Given the description of an element on the screen output the (x, y) to click on. 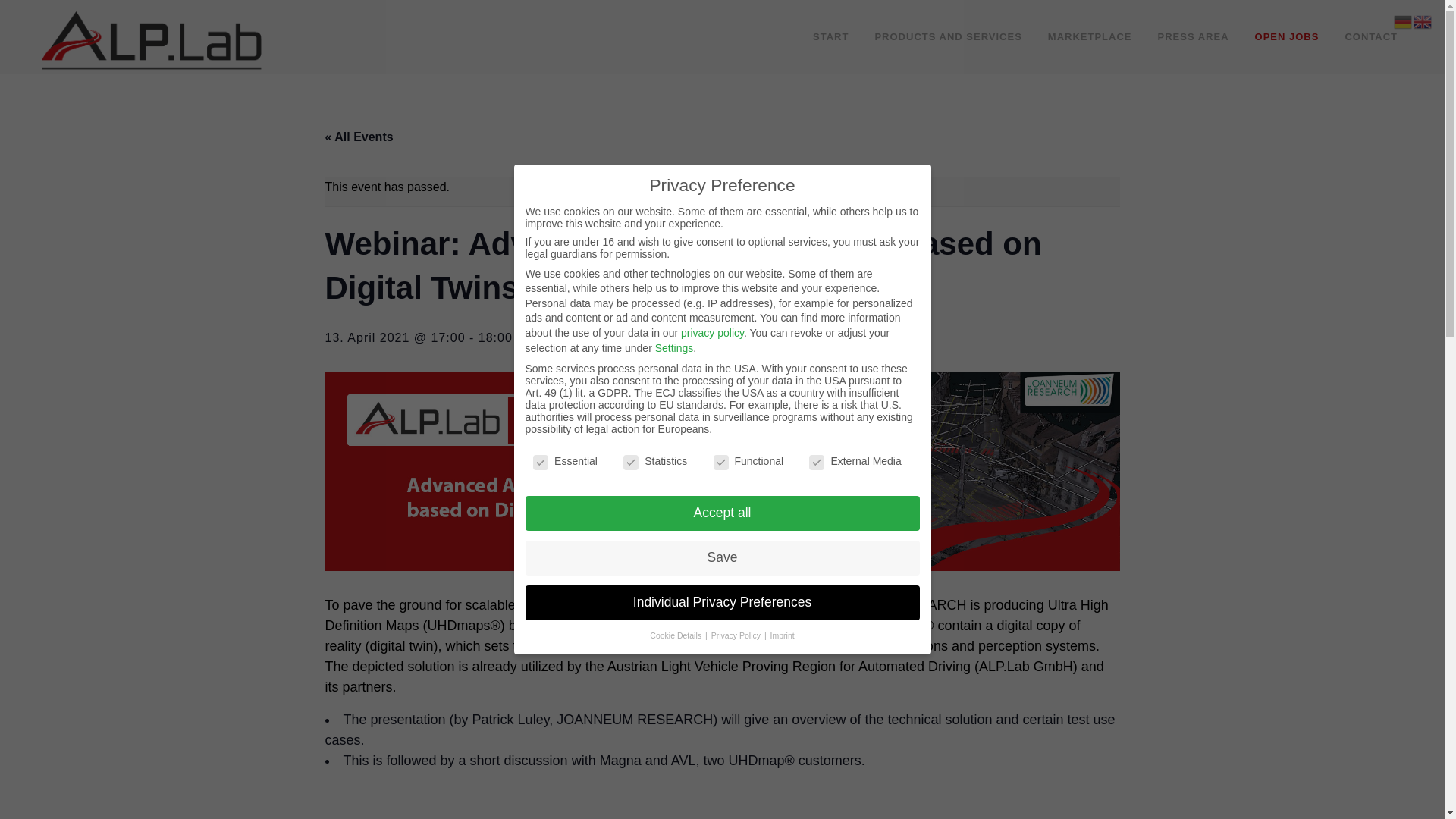
MARKETPLACE (1089, 37)
CONTACT (1371, 37)
English (1422, 20)
PRESS AREA (1192, 37)
PRODUCTS AND SERVICES (947, 37)
OPEN JOBS (1286, 37)
German (1403, 20)
Login (988, 522)
